Given the description of an element on the screen output the (x, y) to click on. 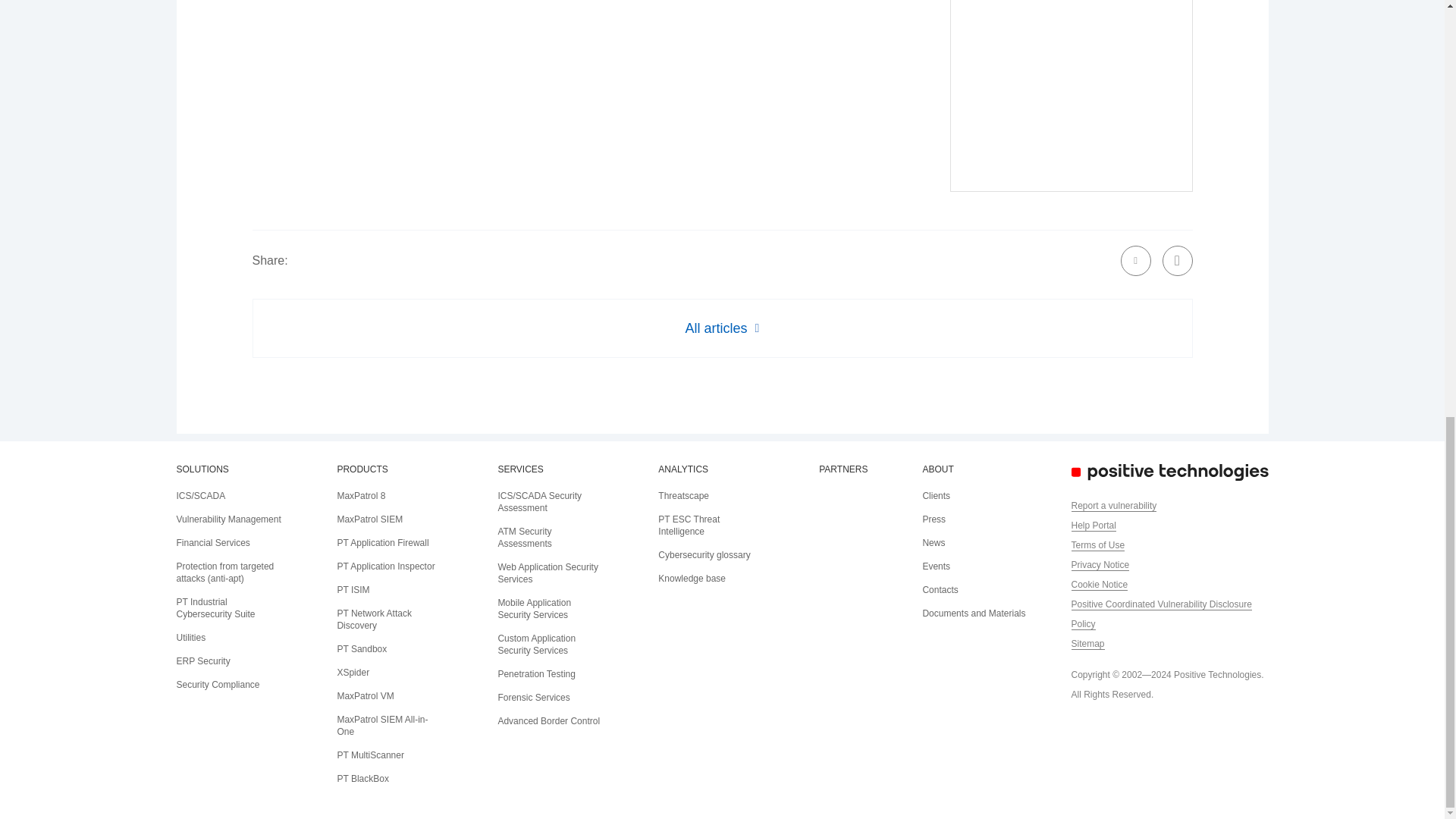
MaxPatrol 8 (360, 495)
PT Industrial Cybersecurity Suite (215, 608)
Copy Link (1176, 260)
MaxPatrol VM (364, 696)
PRODUCTS (361, 469)
Utilities (190, 637)
Vulnerability Management (228, 519)
ERP Security (203, 661)
SERVICES (520, 469)
ATM Security Assessments (524, 537)
PT MultiScanner (369, 755)
All articles (721, 327)
PT ISIM (352, 589)
MaxPatrol SIEM All-in-One (382, 725)
Mobile Application Security Services (533, 608)
